Given the description of an element on the screen output the (x, y) to click on. 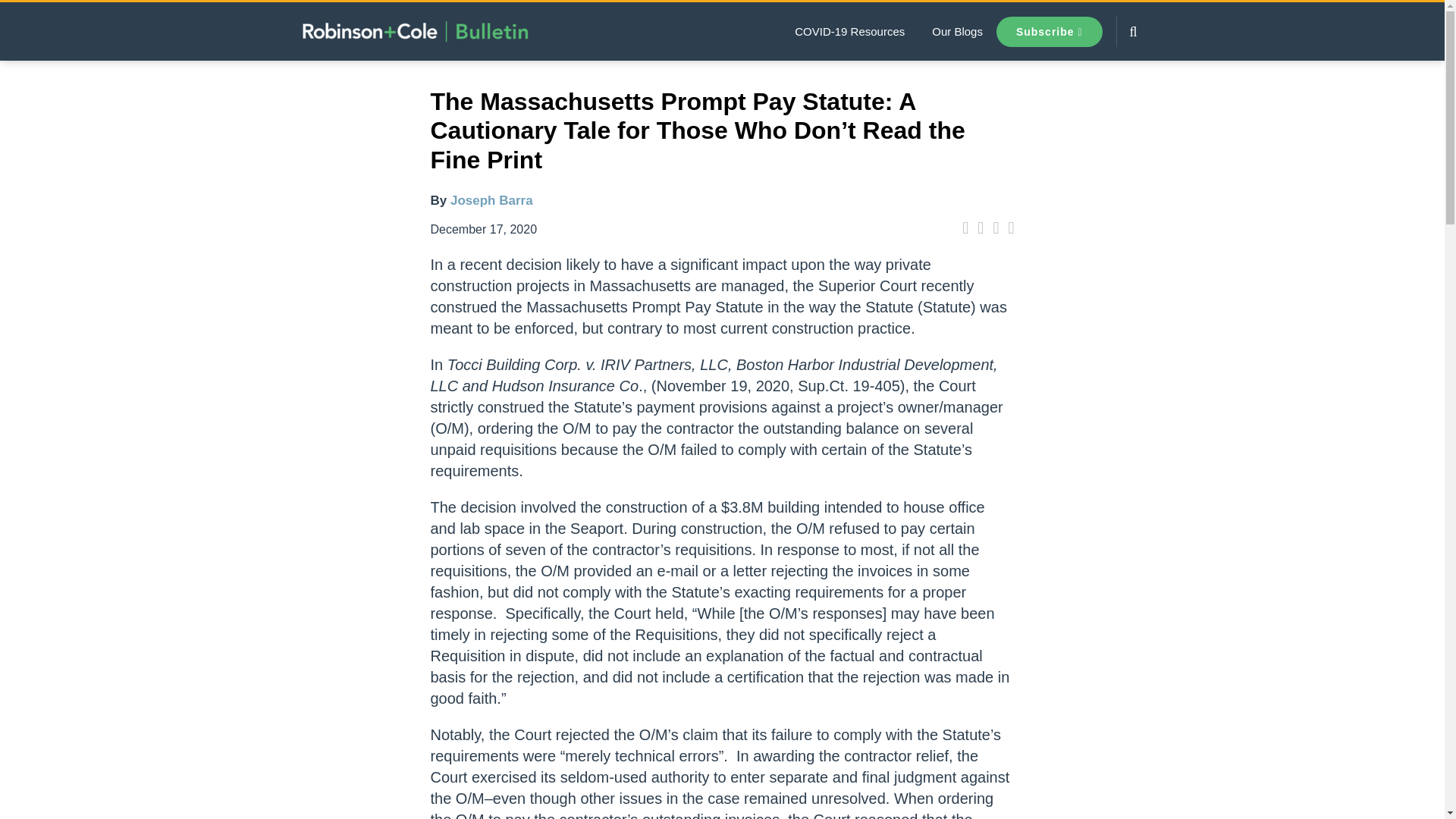
Our Blogs (956, 31)
Joseph Barra (490, 200)
COVID-19 Resources (849, 31)
Subscribe (1048, 31)
